Given the description of an element on the screen output the (x, y) to click on. 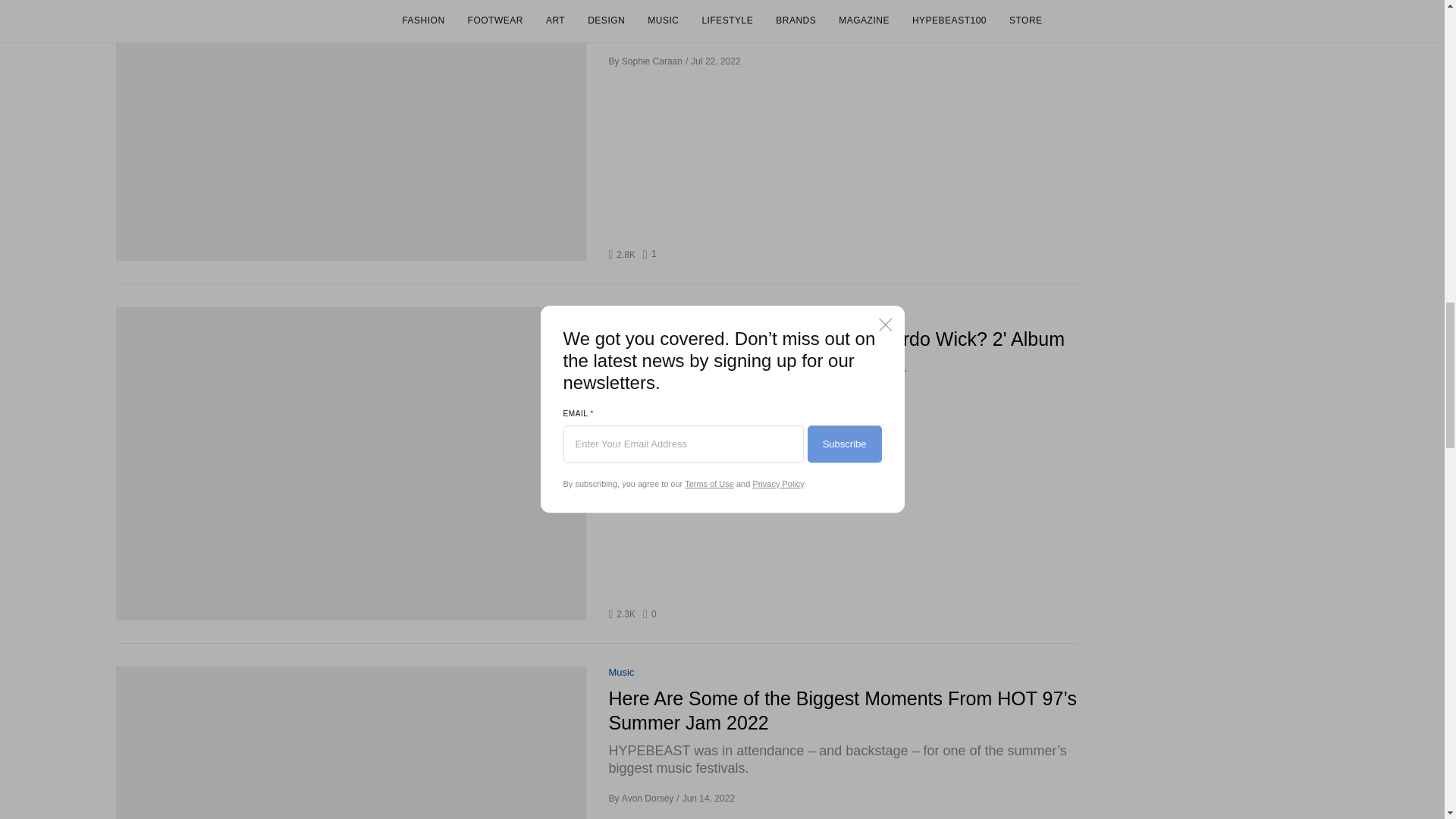
Nardo Wick Announces 'Who Is Nardo Wick? 2' Album (843, 339)
Music (620, 313)
Music (651, 254)
Sophie Caraan (620, 672)
Nardo Wick Announces 'Who Is Nardo Wick? 2' Album (651, 61)
